Given the description of an element on the screen output the (x, y) to click on. 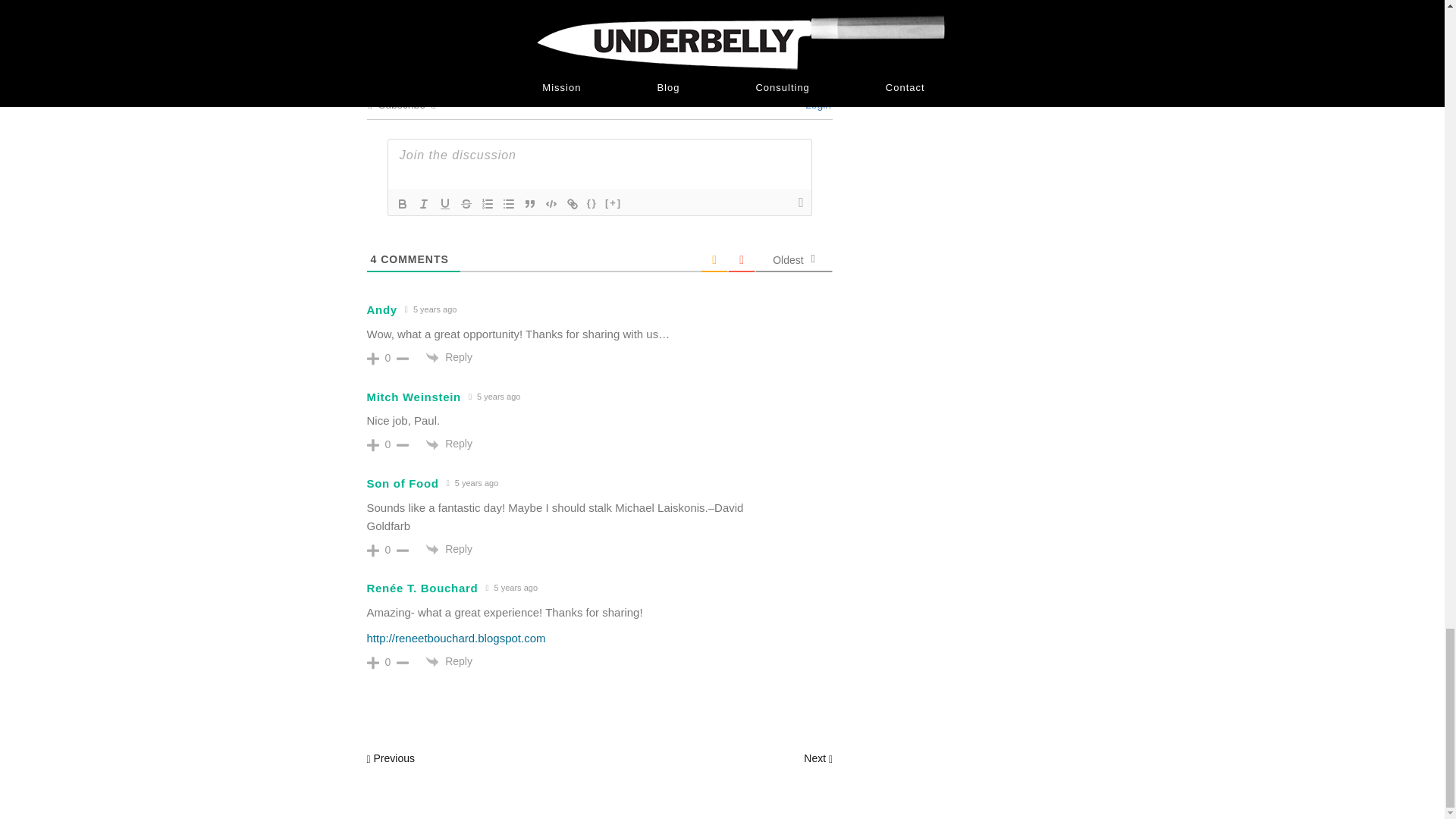
ordered (487, 203)
bullet (508, 203)
Blog (431, 2)
Code Block (551, 203)
Link (572, 203)
Login (815, 104)
Source Code (592, 203)
Spoiler (613, 203)
Unordered List (508, 203)
Italic (423, 203)
Bold (402, 203)
Strike (466, 203)
Blockquote (529, 203)
Underline (444, 203)
Ordered List (487, 203)
